Given the description of an element on the screen output the (x, y) to click on. 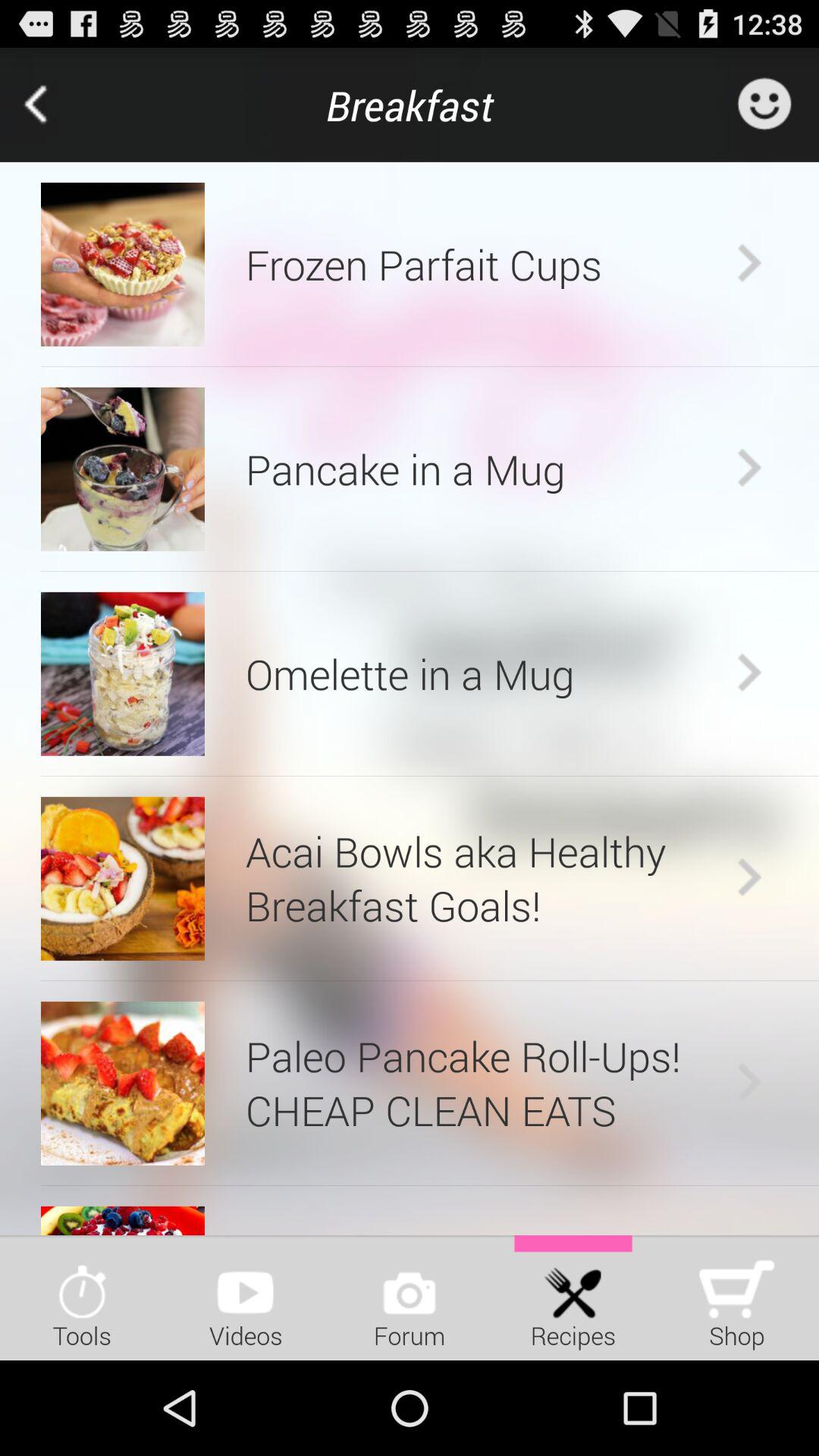
turn off app next to the breakfast icon (57, 104)
